Given the description of an element on the screen output the (x, y) to click on. 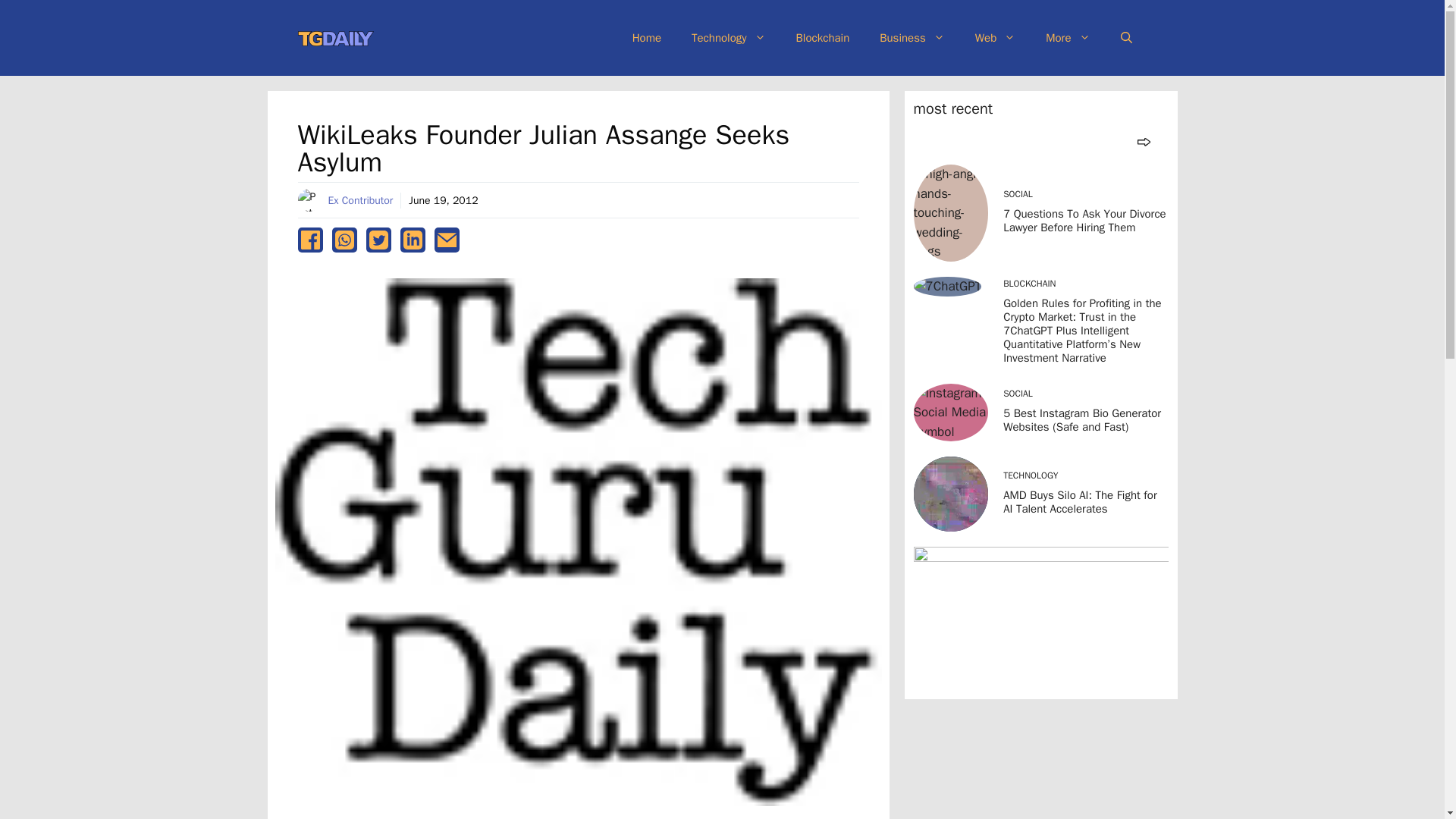
Blockchain (822, 37)
purple-600x400-1 (1039, 618)
Home (647, 37)
More (1067, 37)
Business (911, 37)
Web (994, 37)
Technology (728, 37)
